Given the description of an element on the screen output the (x, y) to click on. 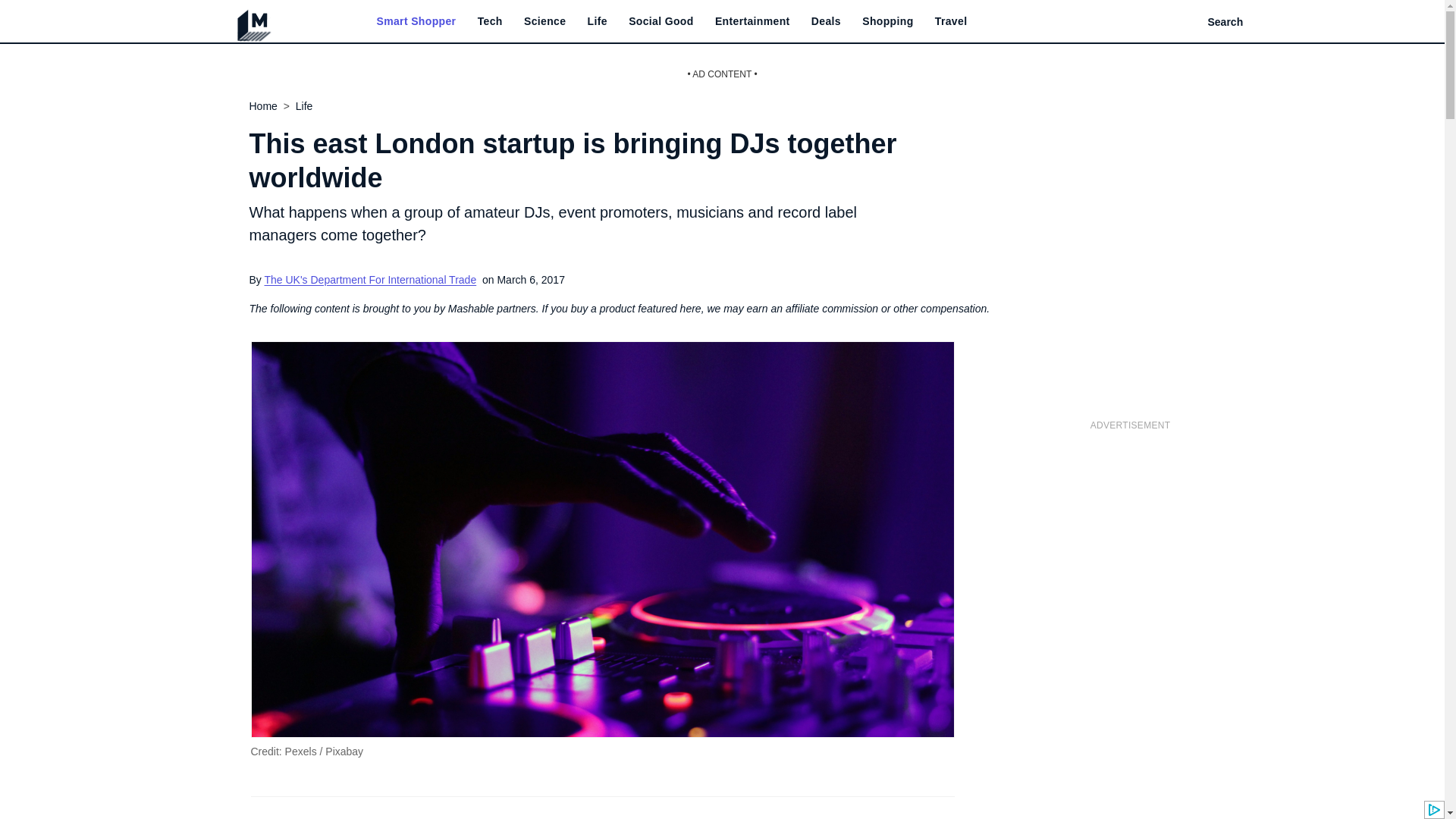
Deals (825, 21)
Travel (951, 21)
Shopping (886, 21)
Life (597, 21)
Entertainment (752, 21)
Tech (489, 21)
Smart Shopper (415, 21)
Social Good (661, 21)
Science (545, 21)
